Given the description of an element on the screen output the (x, y) to click on. 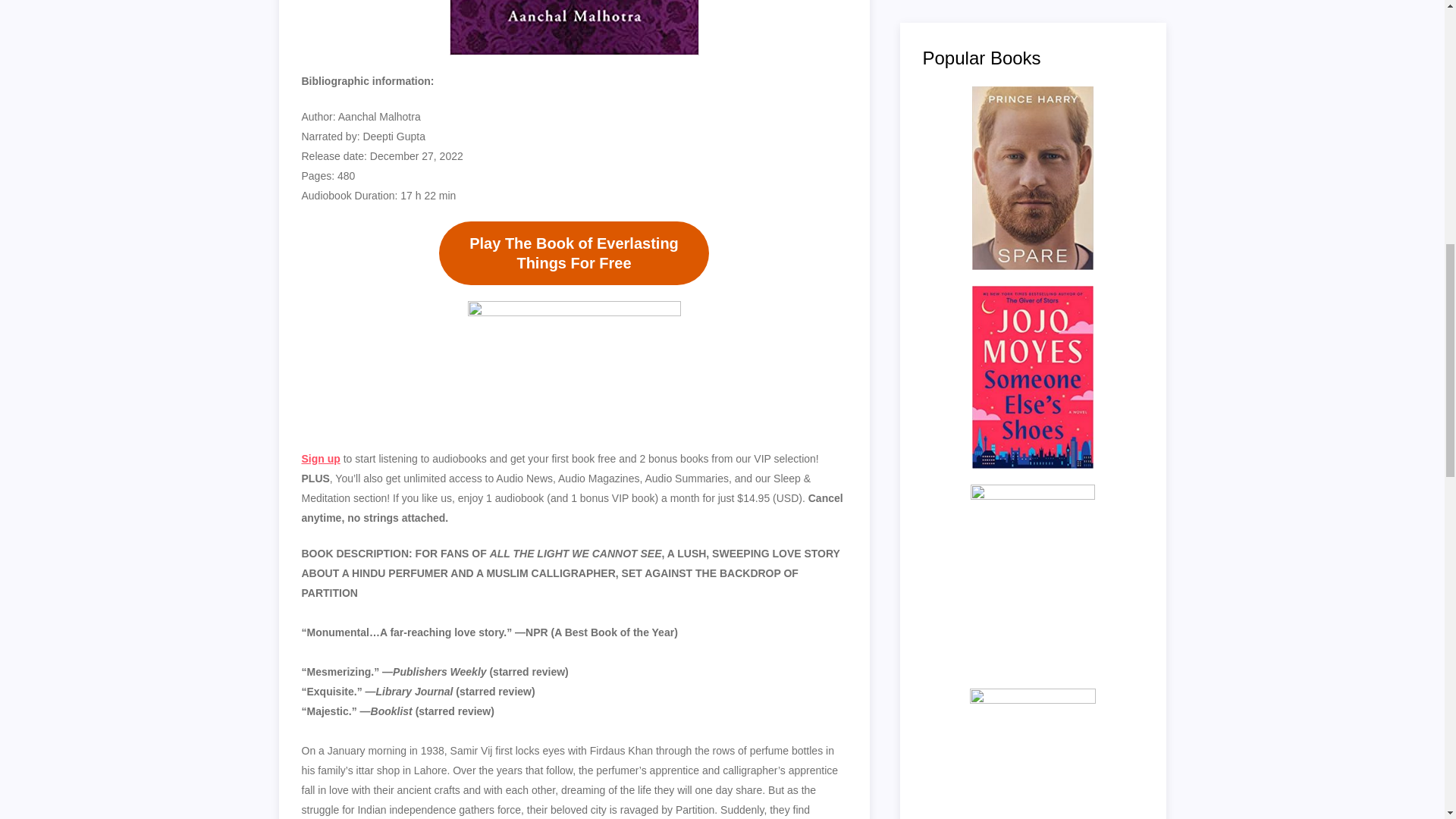
Sign up (320, 458)
